Given the description of an element on the screen output the (x, y) to click on. 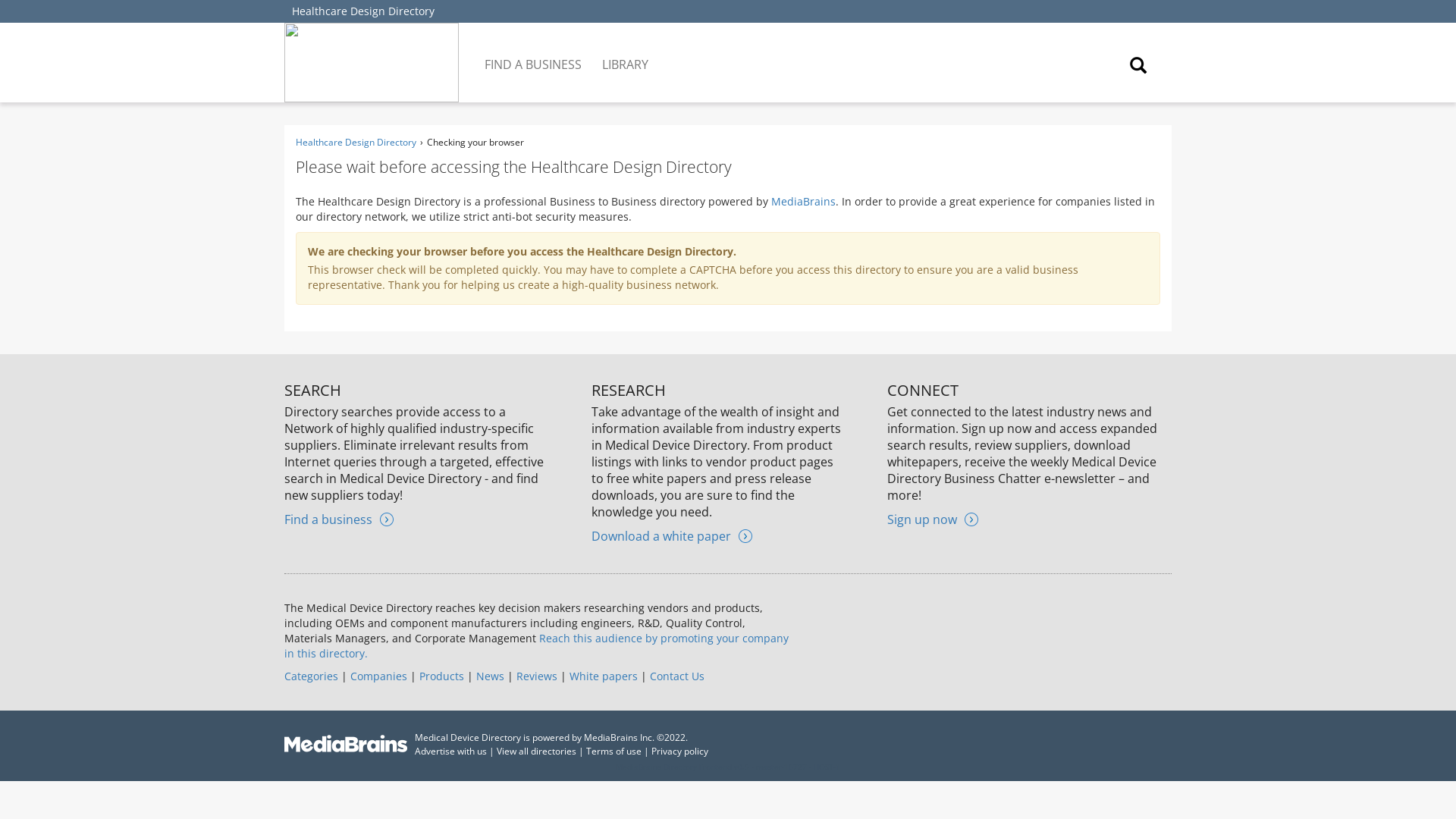
Sign up now (932, 519)
Privacy policy (678, 750)
Contact Us (676, 676)
Reviews (536, 676)
FIND A BUSINESS (534, 52)
Categories (310, 676)
White papers (603, 676)
View all directories (536, 750)
MediaBrains (803, 201)
News (489, 676)
Find a business (338, 519)
LIBRARY (626, 52)
Advertise with us (450, 750)
Download a white paper (671, 535)
